Given the description of an element on the screen output the (x, y) to click on. 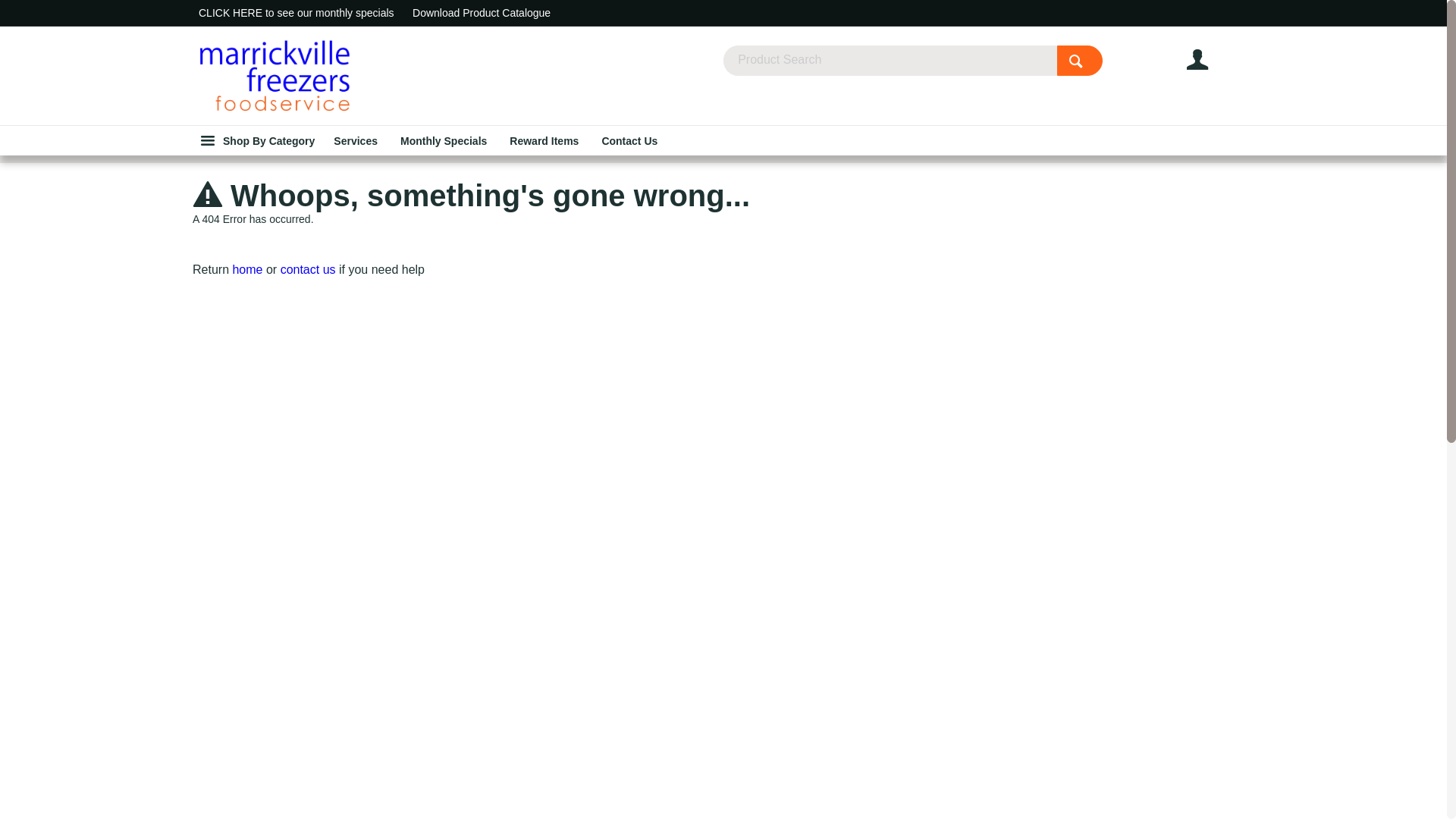
Reward Items Element type: text (543, 140)
CLICK HERE to see our monthly specials Element type: text (296, 12)
home Element type: text (247, 269)
Login Element type: text (1214, 59)
Contact Us Element type: text (628, 140)
Download Product Catalogue Element type: text (481, 12)
Login Element type: text (1220, 38)
Monthly Specials Element type: text (443, 140)
Services Element type: text (355, 140)
contact us Element type: text (307, 269)
